Given the description of an element on the screen output the (x, y) to click on. 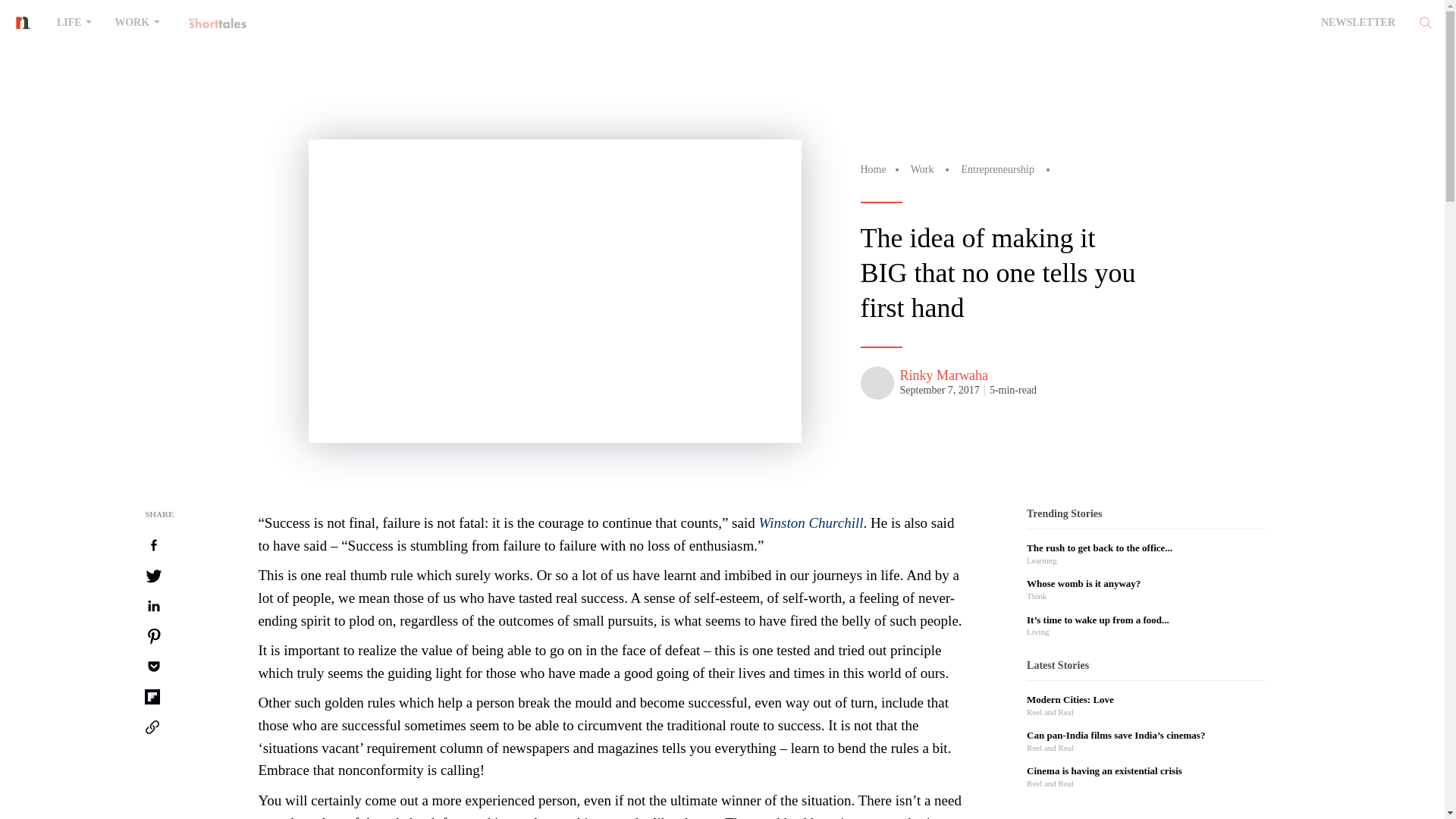
Rinky Marwaha (945, 375)
NEWSLETTER (1357, 21)
Cinema is having an existential crisis (1104, 770)
WORK (136, 21)
Entrepreneurship (996, 169)
The rush to get back to the office is here (1099, 547)
SHARE (154, 514)
LIFE (74, 21)
Whose womb is it anyway? (1083, 583)
Home (872, 169)
